Given the description of an element on the screen output the (x, y) to click on. 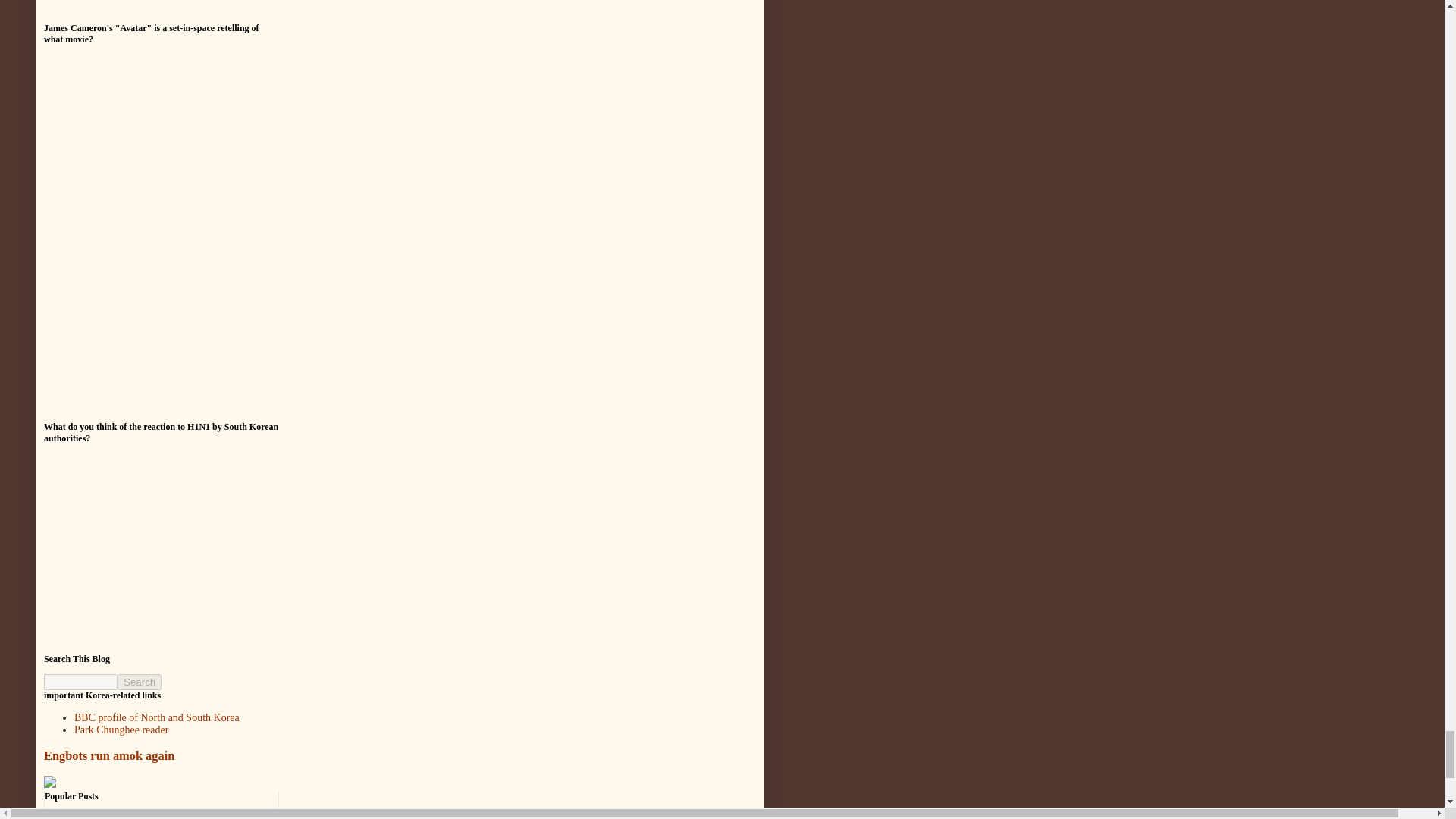
Search (139, 682)
Search (139, 682)
search (80, 682)
search (139, 682)
